Given the description of an element on the screen output the (x, y) to click on. 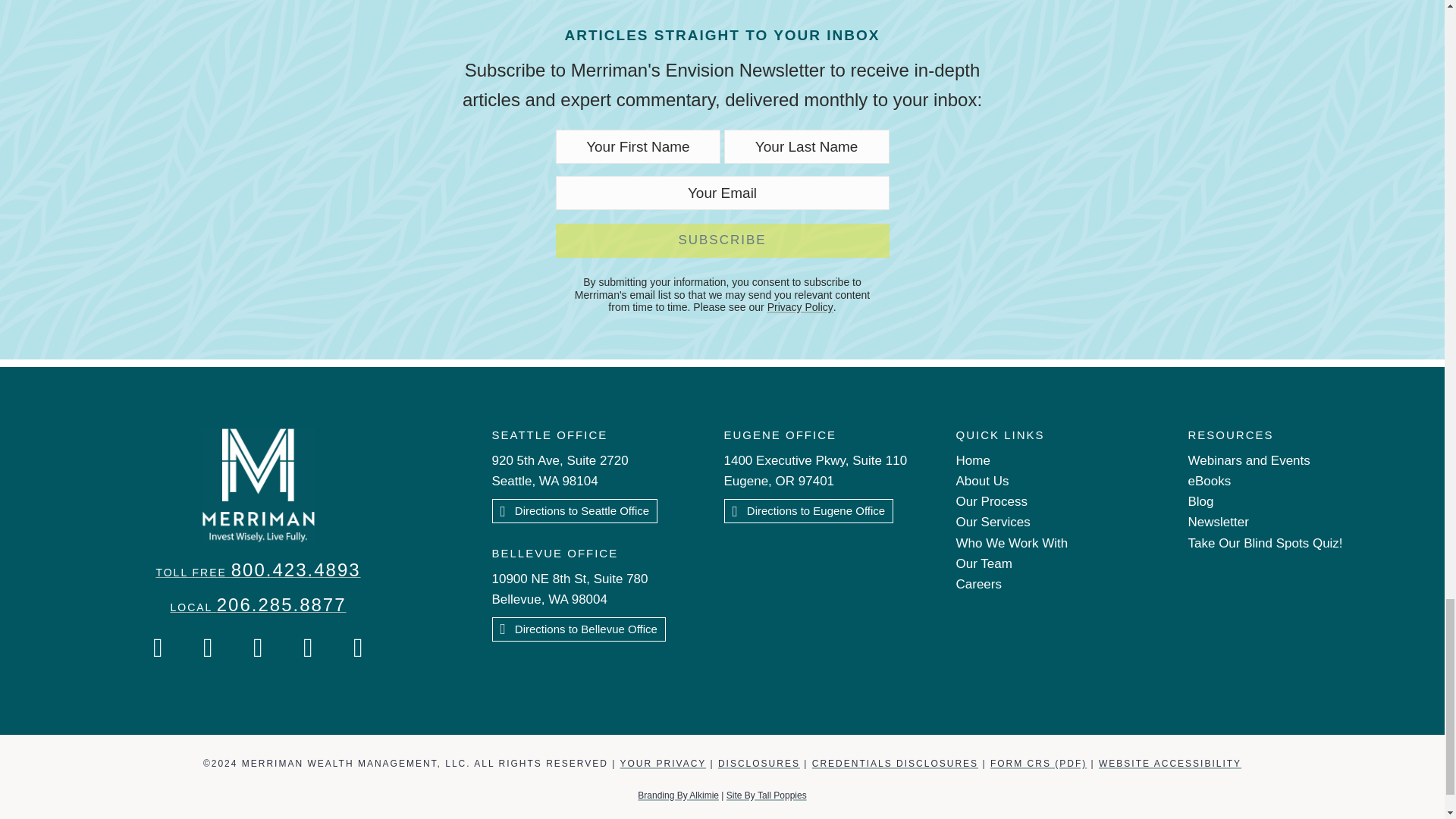
Merriman's LinkedIn (358, 647)
Merriman's Facebook Page (158, 647)
Subscribe (721, 240)
Merriman's Twitter Account (259, 647)
Click Here (575, 510)
Click Here (808, 510)
Merriman's YouTube Channel (308, 647)
Merriman's Instagram Account (208, 647)
Click Here (578, 629)
